Given the description of an element on the screen output the (x, y) to click on. 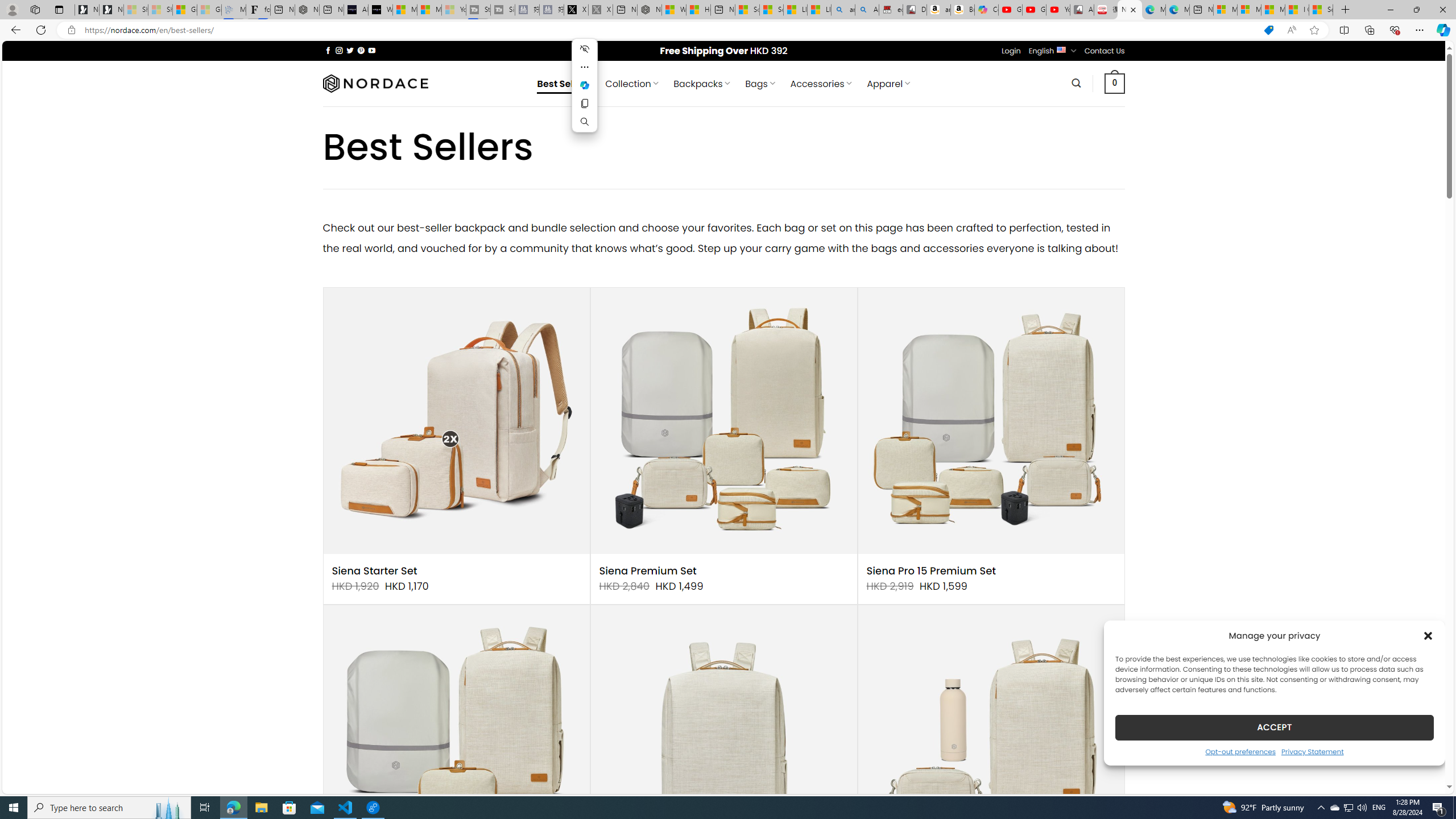
Mini menu on text selection (584, 84)
What's the best AI voice generator? - voice.ai (380, 9)
 Best Sellers (564, 83)
YouTube Kids - An App Created for Kids to Explore Content (1057, 9)
X (575, 9)
Opt-out preferences (1240, 750)
X - Sleeping (600, 9)
AI Voice Changer for PC and Mac - Voice.ai (355, 9)
